Given the description of an element on the screen output the (x, y) to click on. 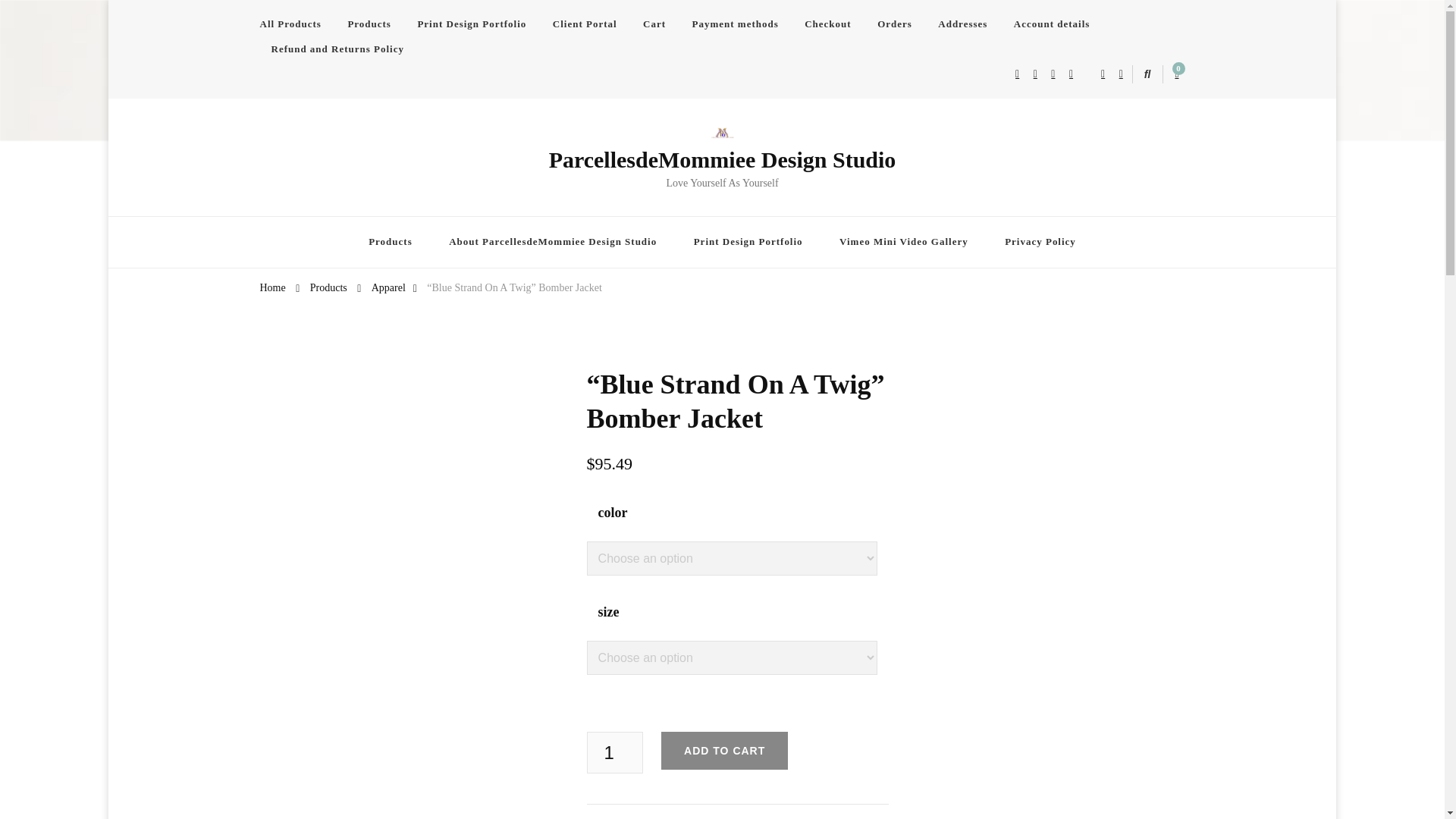
1 (614, 752)
Print Design Portfolio (471, 24)
Home (272, 287)
Search (1121, 76)
Refund and Returns Policy (336, 48)
Products (328, 287)
All Products (295, 24)
Products (390, 242)
Products (369, 24)
Vimeo Mini Video Gallery (903, 242)
